Given the description of an element on the screen output the (x, y) to click on. 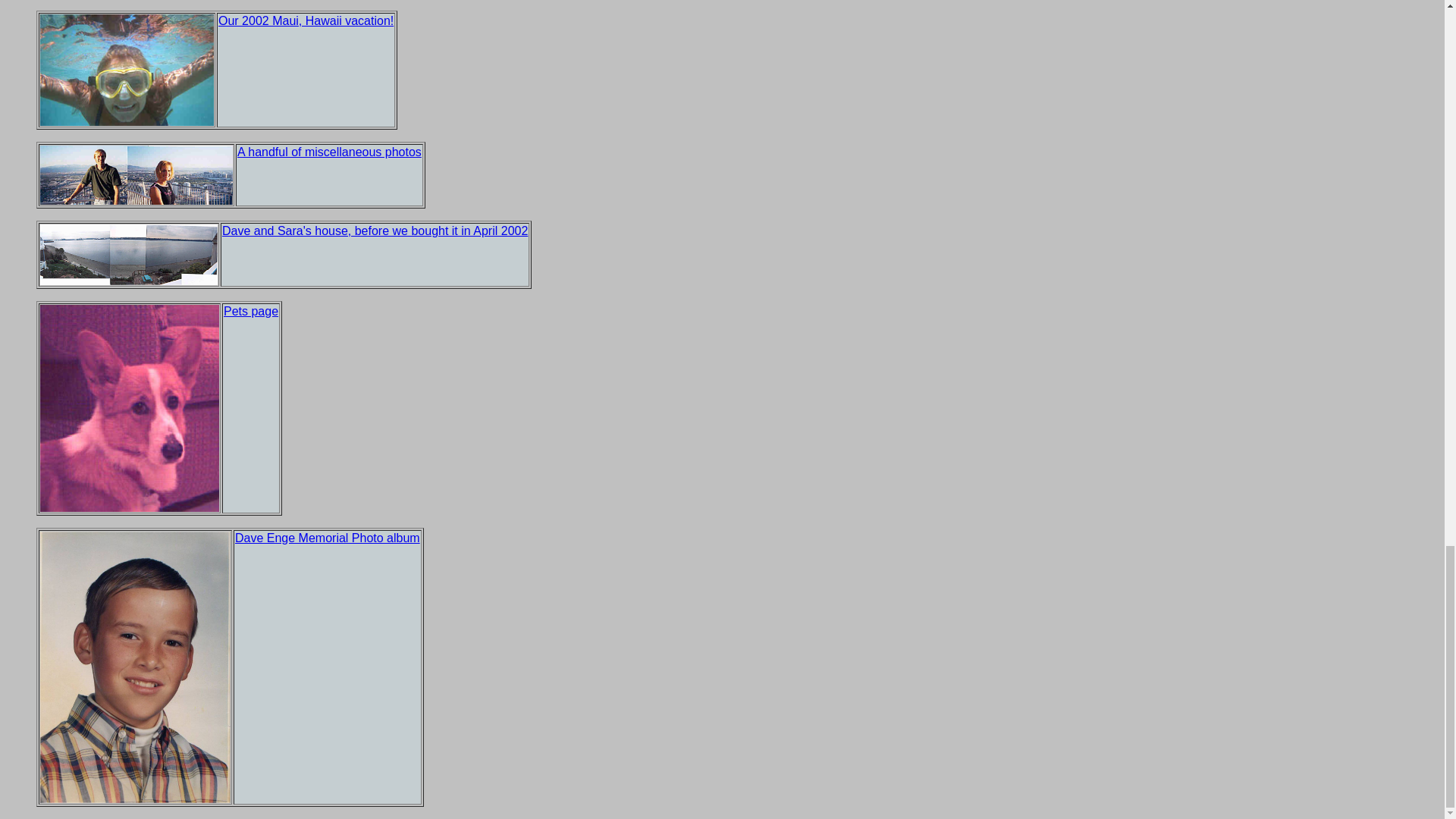
A handful of miscellaneous photos (329, 151)
Our 2002 Maui, Hawaii vacation! (305, 20)
Dave and Sara's house, before we bought it in April 2002 (374, 230)
